Given the description of an element on the screen output the (x, y) to click on. 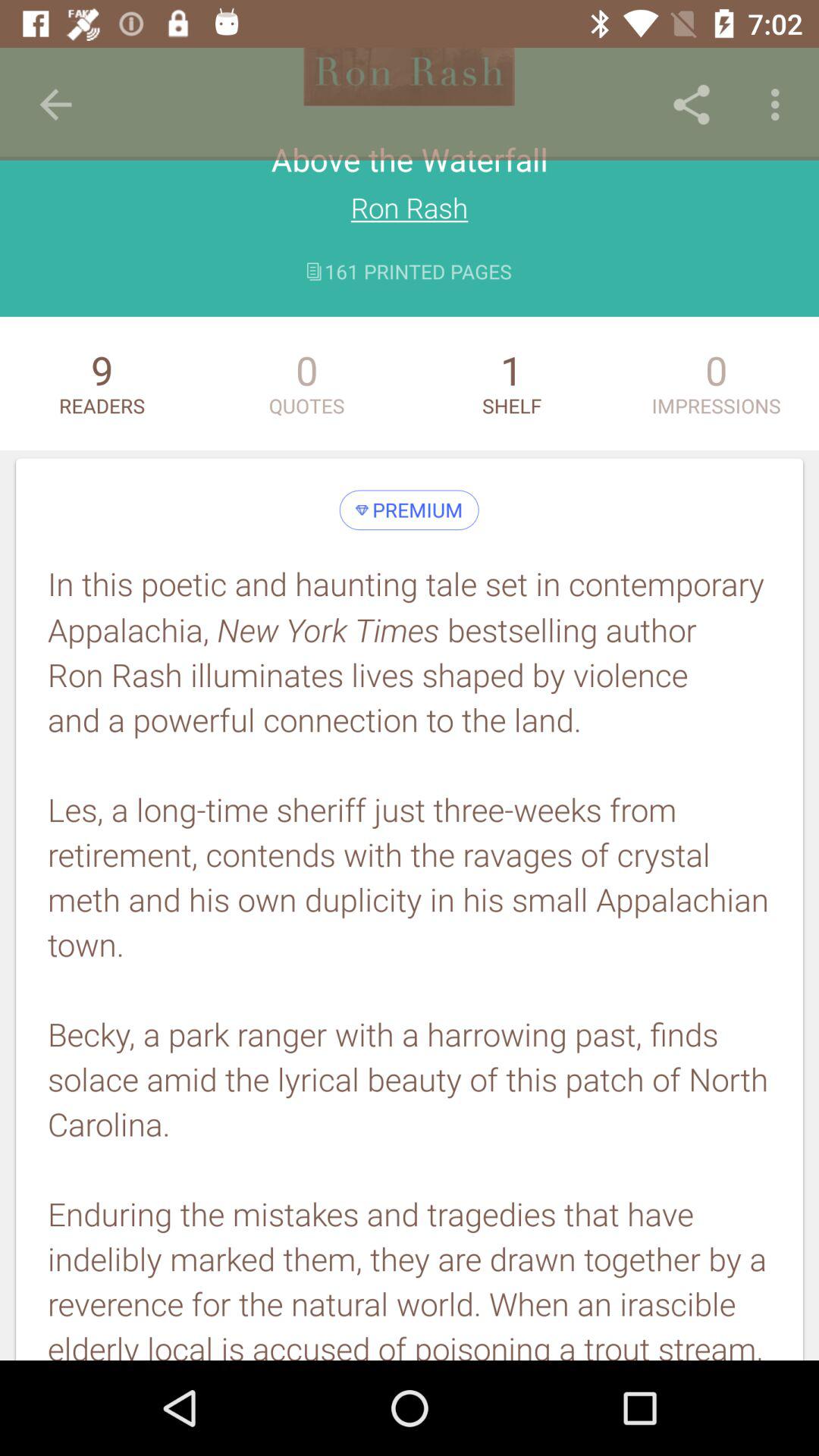
choose item above 9 icon (55, 104)
